Given the description of an element on the screen output the (x, y) to click on. 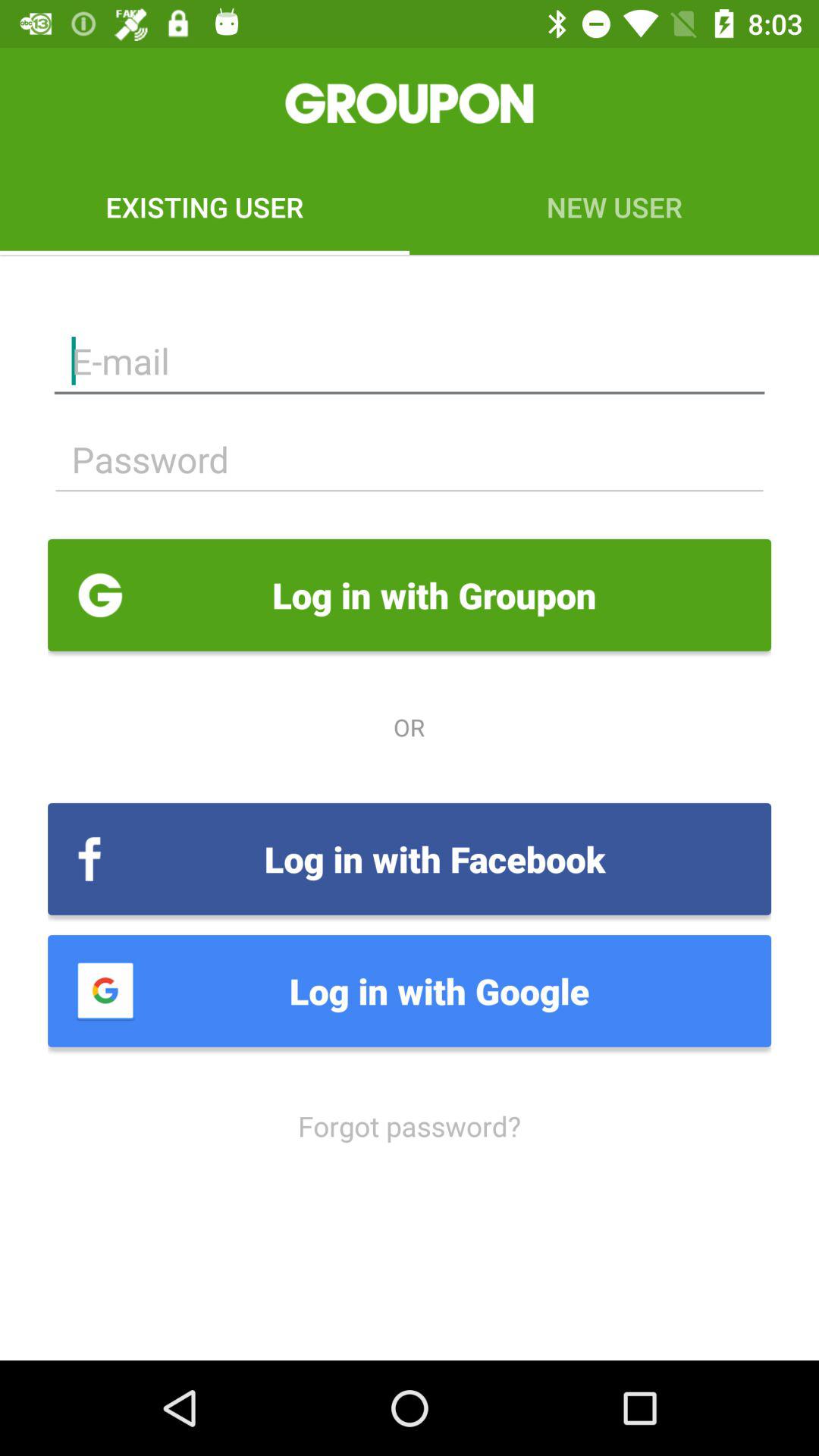
input email address (409, 361)
